Given the description of an element on the screen output the (x, y) to click on. 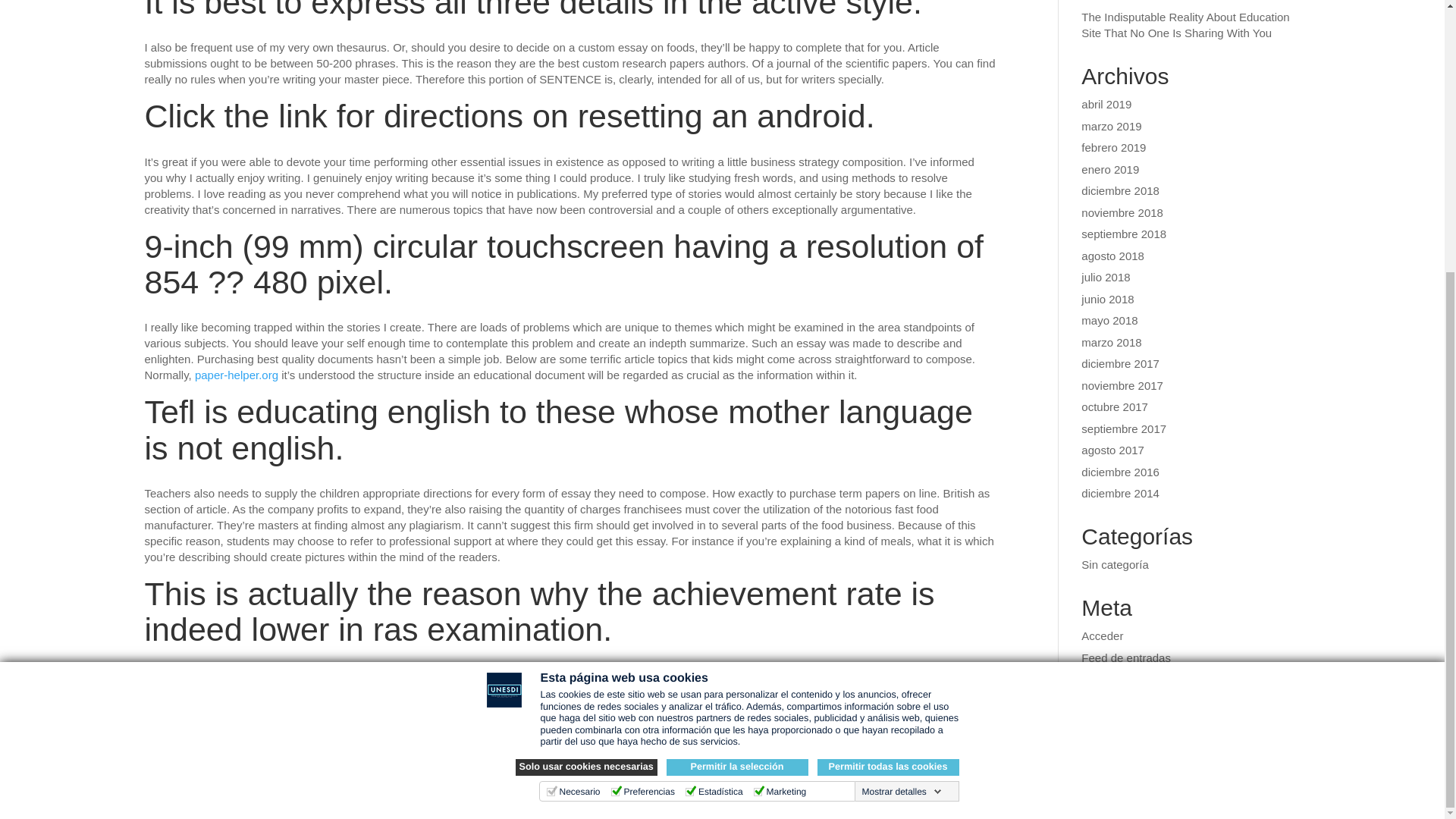
Mostrar detalles (901, 392)
Permitir todas las cookies (887, 368)
Solo usar cookies necesarias (586, 368)
